Given the description of an element on the screen output the (x, y) to click on. 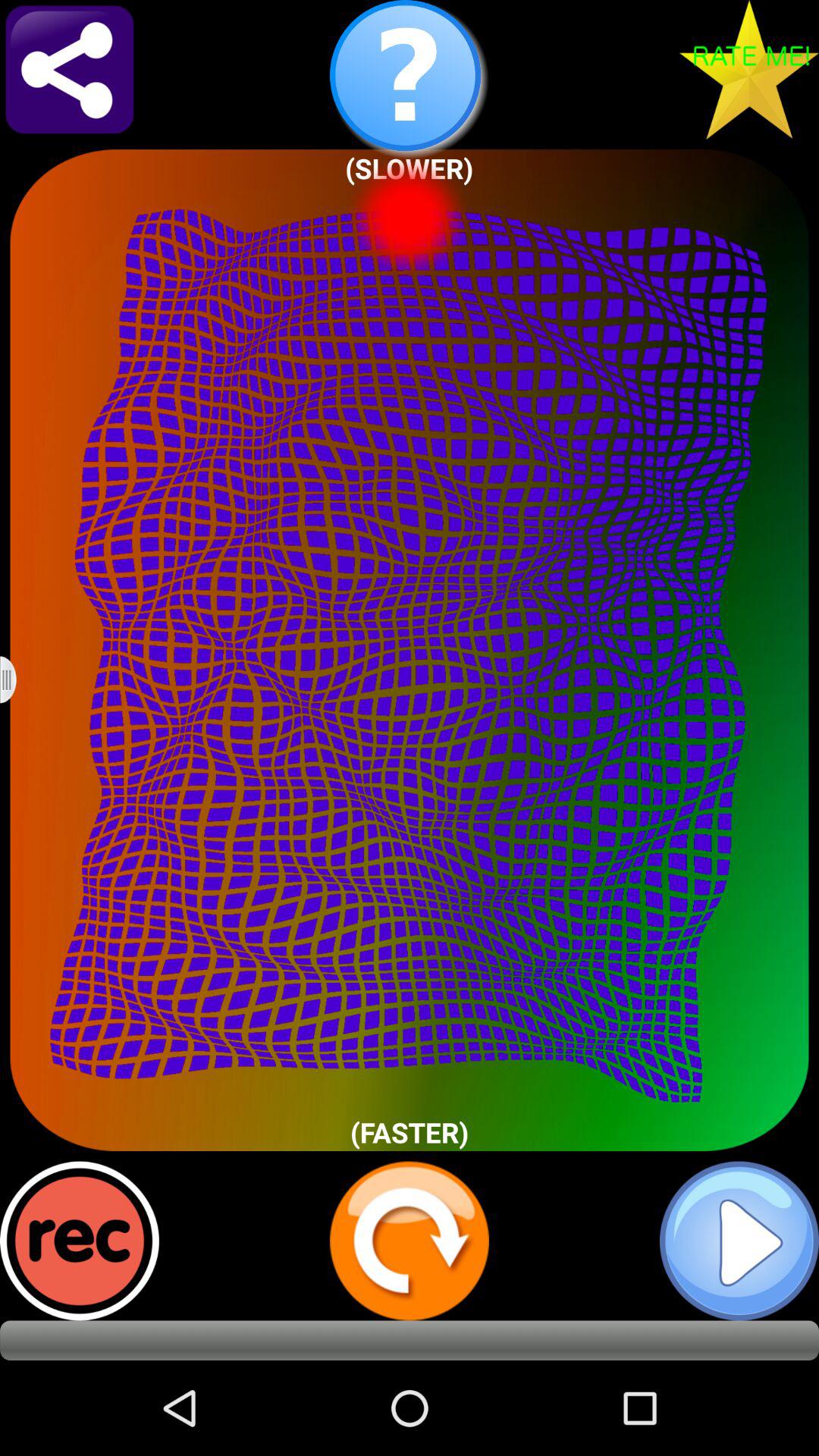
add to favorites (749, 69)
